Given the description of an element on the screen output the (x, y) to click on. 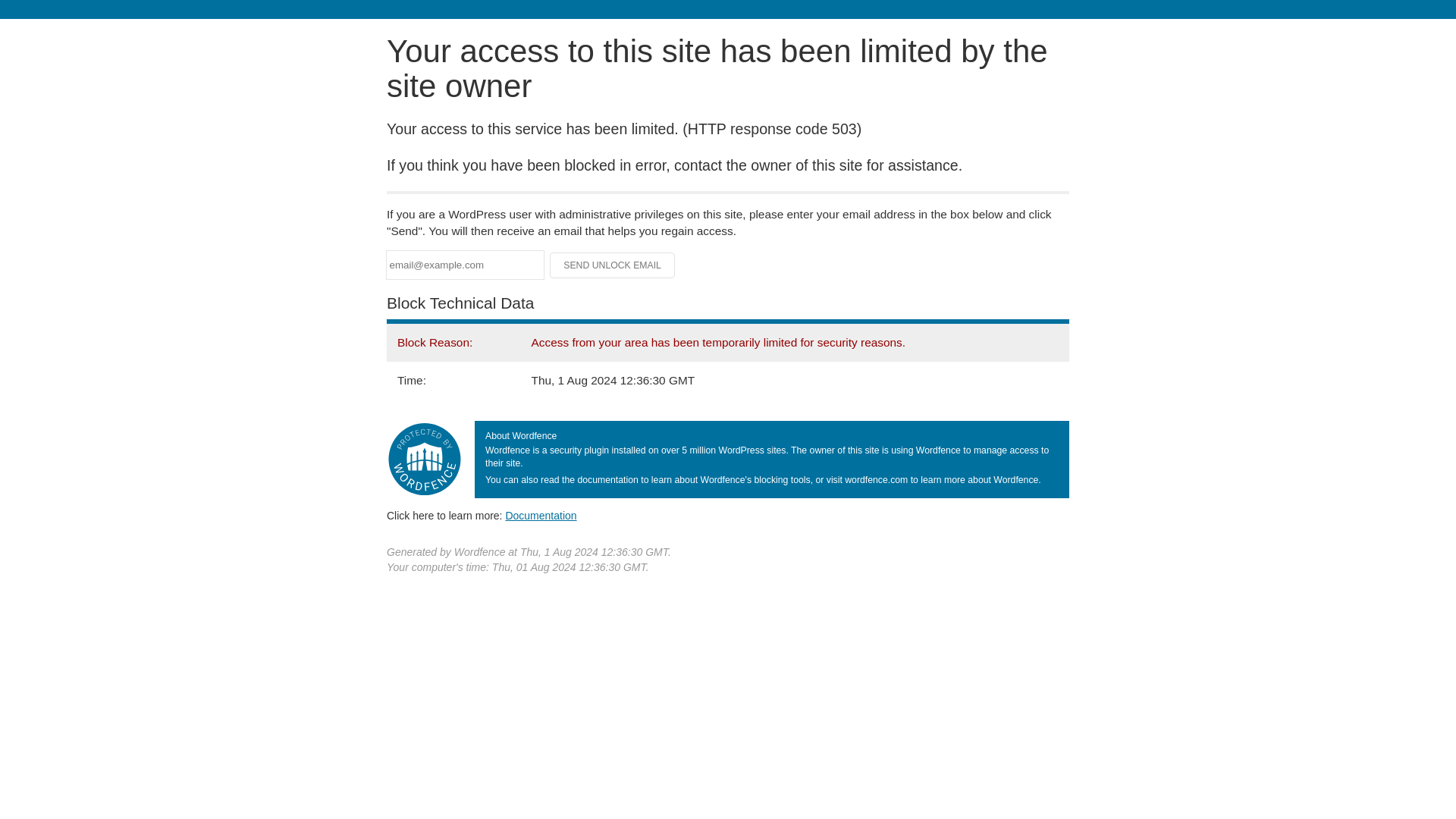
Send Unlock Email (612, 265)
Send Unlock Email (612, 265)
Documentation (540, 515)
